Given the description of an element on the screen output the (x, y) to click on. 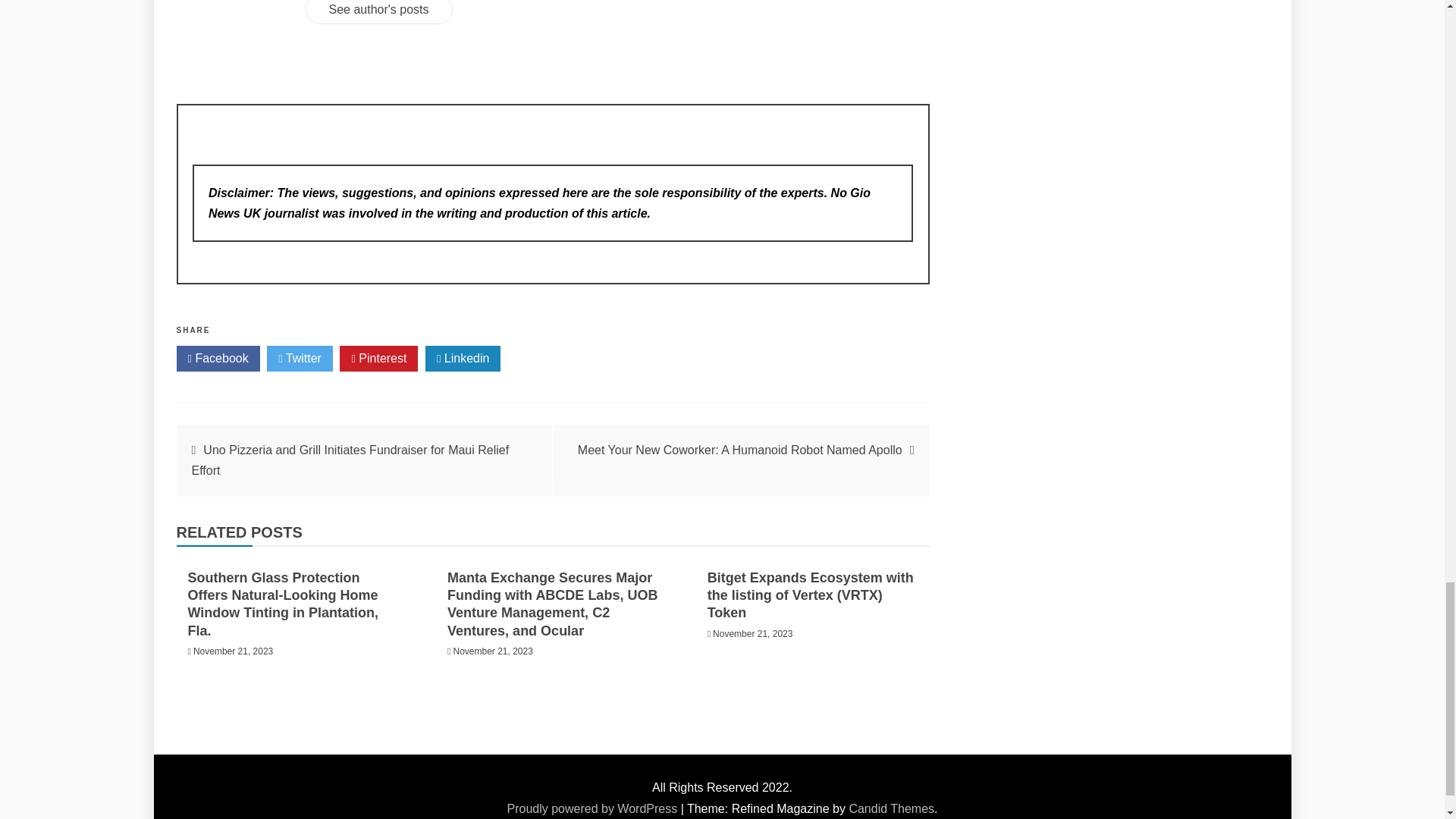
Facebook (217, 358)
November 21, 2023 (233, 651)
See author's posts (377, 12)
November 21, 2023 (492, 651)
November 21, 2023 (752, 633)
Linkedin (462, 358)
Twitter (299, 358)
Meet Your New Coworker: A Humanoid Robot Named Apollo (740, 449)
Pinterest (378, 358)
